Given the description of an element on the screen output the (x, y) to click on. 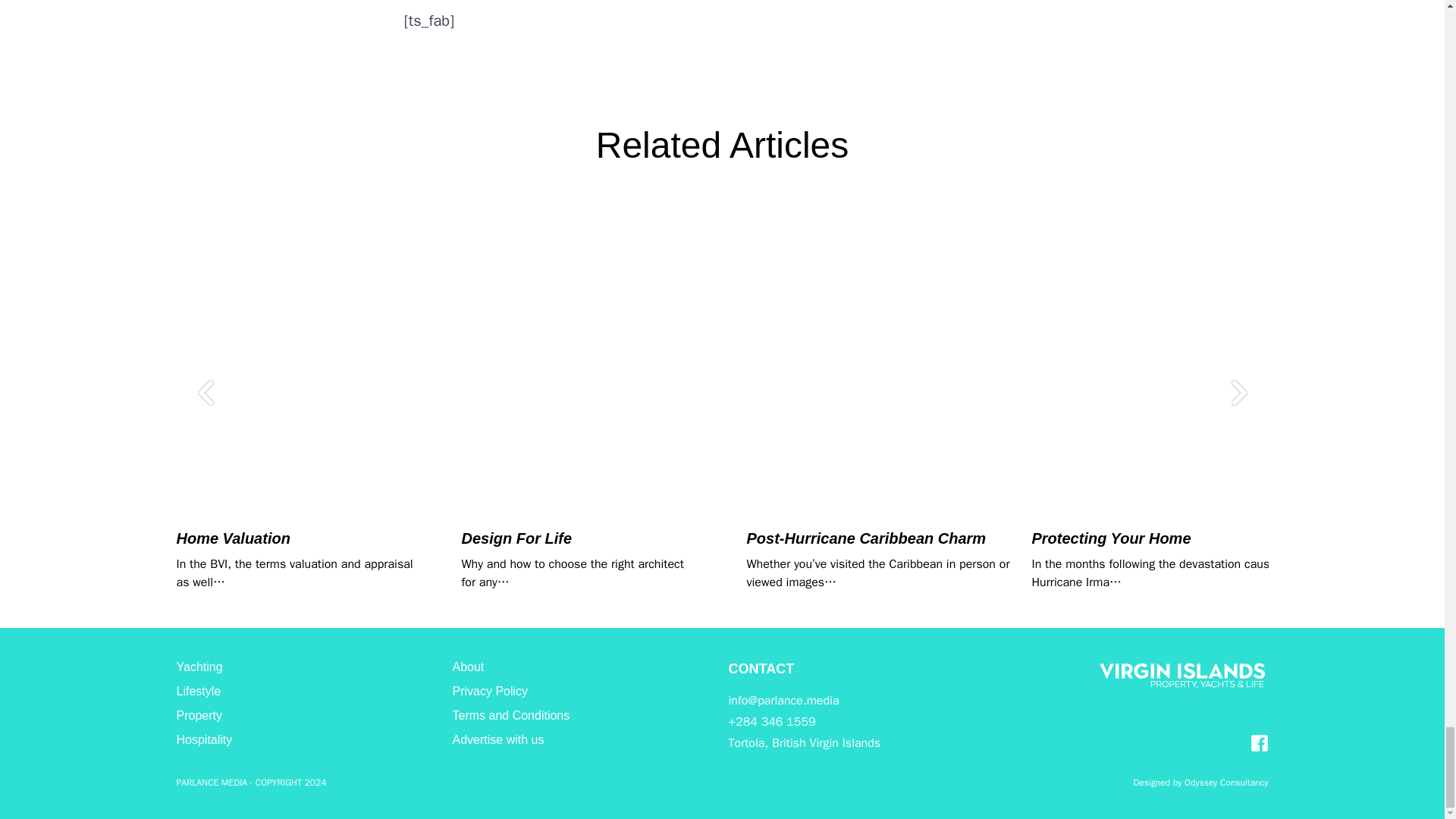
Yachting (199, 666)
Lifestyle (198, 690)
Terms and Conditions (510, 715)
Property (198, 715)
Privacy Policy (489, 690)
About (467, 666)
Follow us on Facebook (1258, 742)
Hospitality (203, 739)
